Given the description of an element on the screen output the (x, y) to click on. 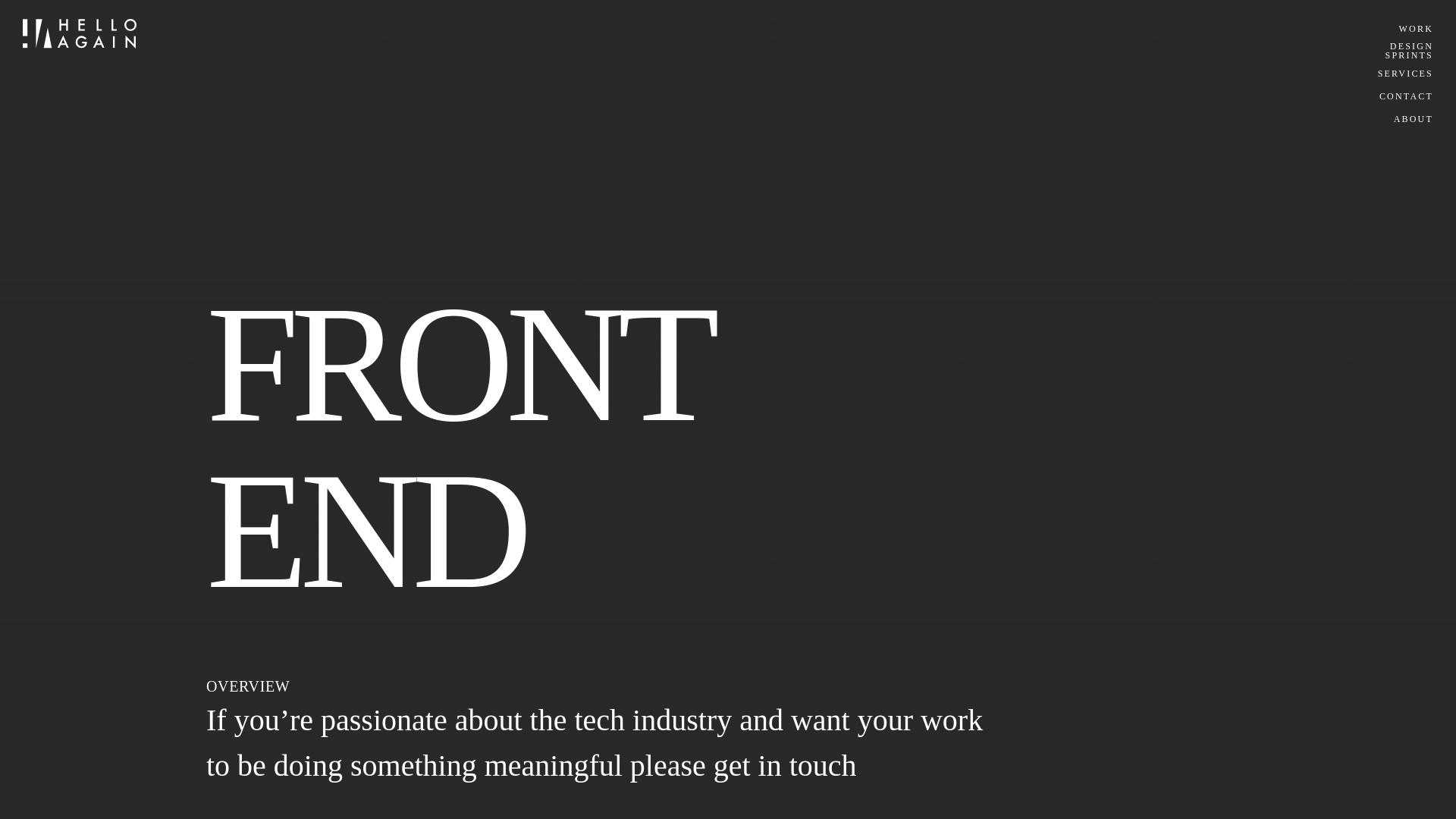
CONTACT (1405, 95)
WORK (1415, 28)
ABOUT (1412, 118)
SERVICES (1404, 50)
